Given the description of an element on the screen output the (x, y) to click on. 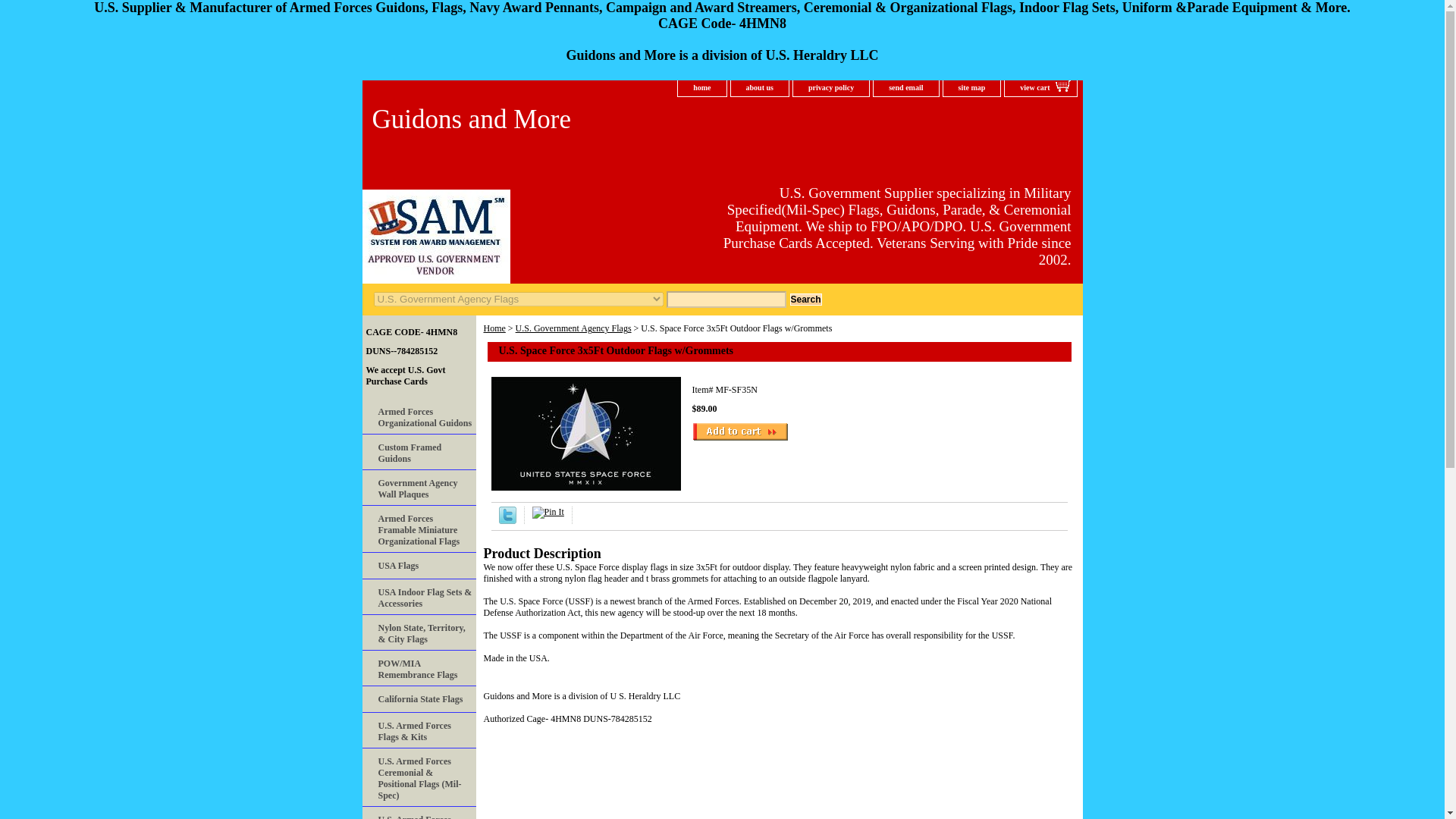
home (701, 88)
Home (494, 327)
privacy policy (831, 88)
Guidons and More (551, 121)
Armed Forces Framable Miniature Organizational Flags (419, 529)
Armed Forces Organizational Guidons (419, 416)
Government Agency Wall Plaques (419, 488)
 USA Flags (419, 565)
U.S. Government Agency Flags (573, 327)
Search (806, 299)
send email (905, 88)
Custom Framed Guidons (419, 452)
California State Flags (419, 699)
site map (972, 88)
Custom Framed Guidons (419, 452)
